Given the description of an element on the screen output the (x, y) to click on. 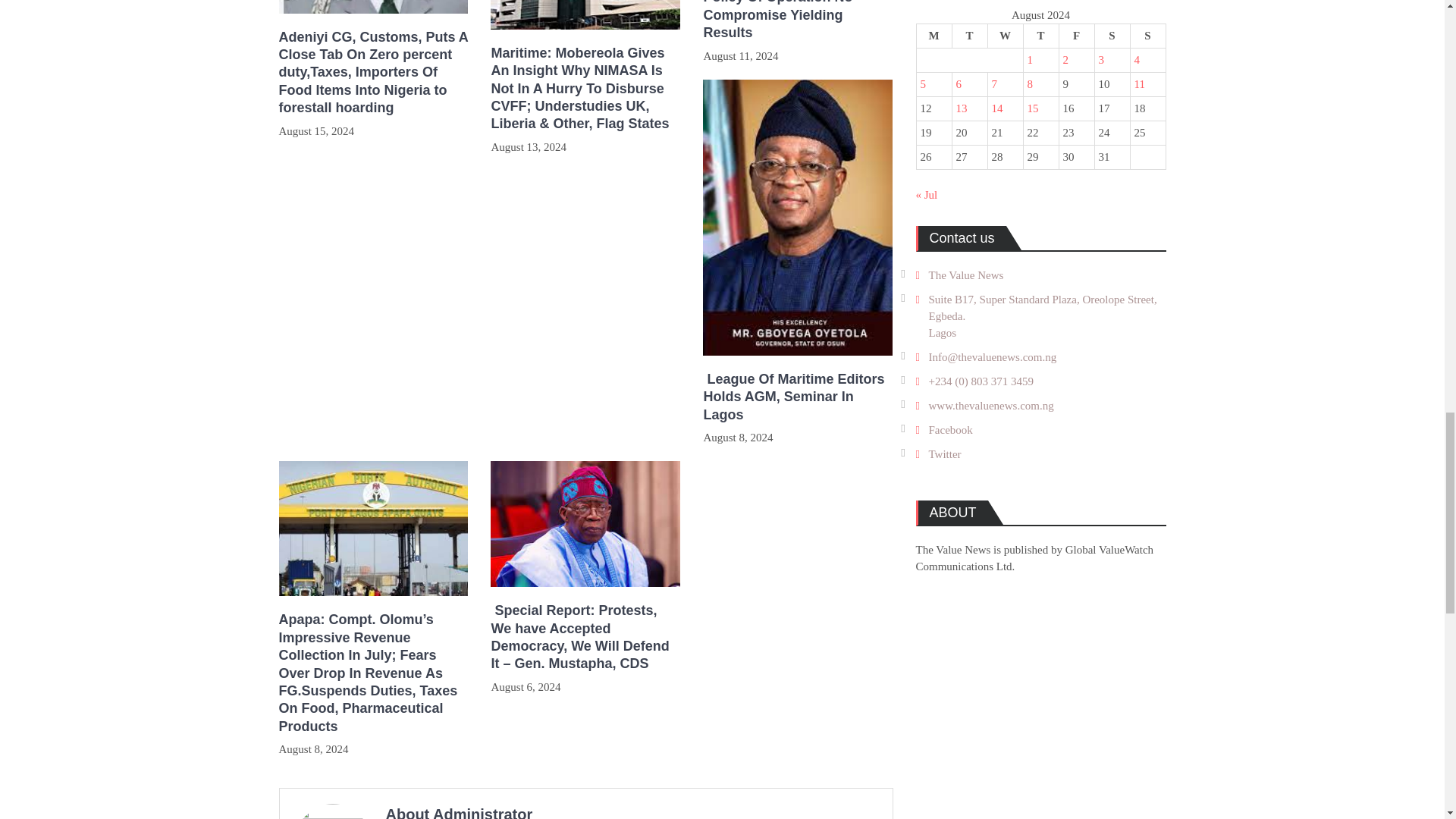
Tuesday (969, 36)
Sunday (1147, 36)
Thursday (1040, 36)
Wednesday (1005, 36)
Saturday (1111, 36)
 League Of Maritime Editors Holds AGM, Seminar In Lagos (797, 397)
Monday (933, 36)
Friday (1076, 36)
